Given the description of an element on the screen output the (x, y) to click on. 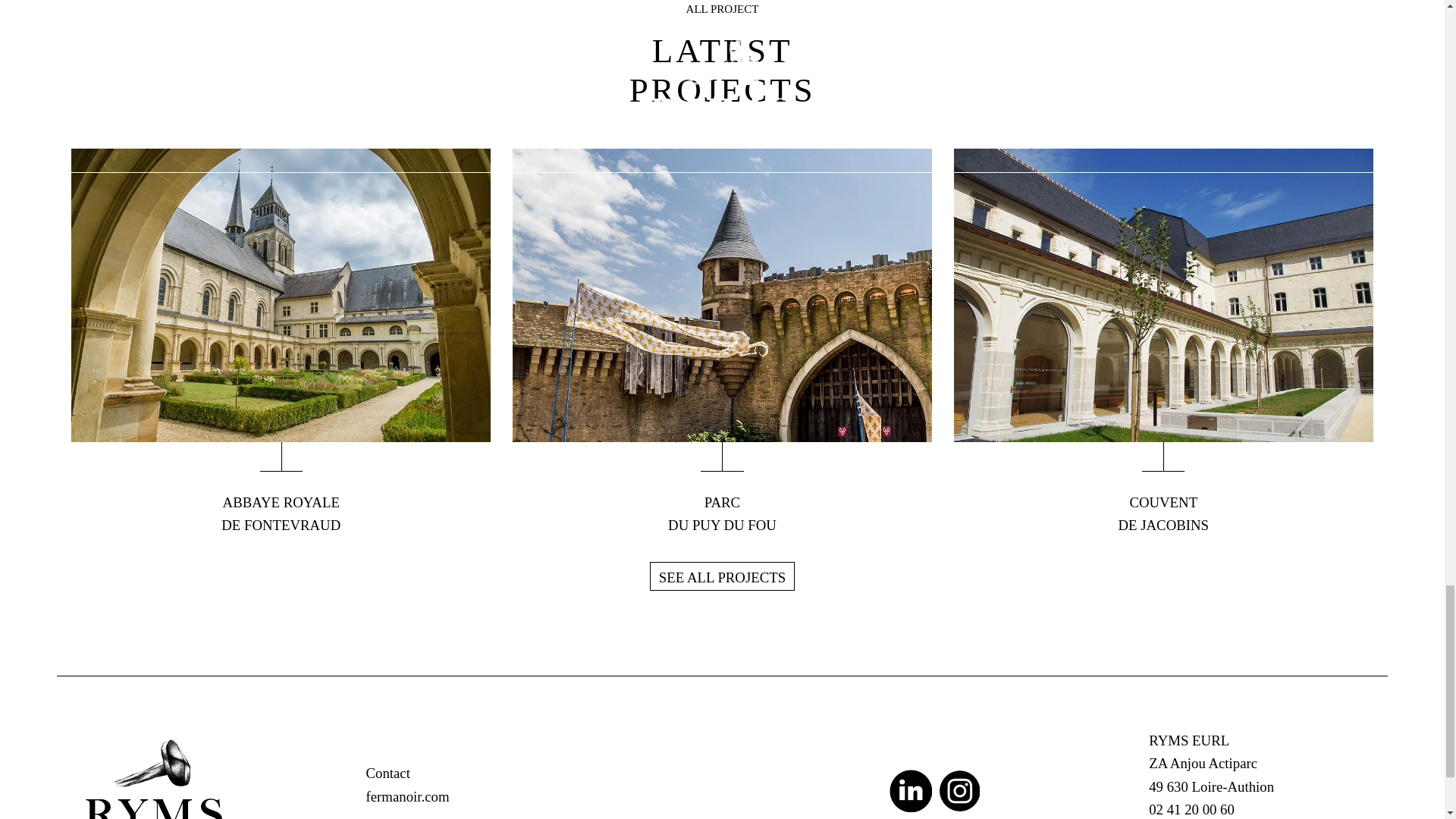
Contact (721, 575)
